Given the description of an element on the screen output the (x, y) to click on. 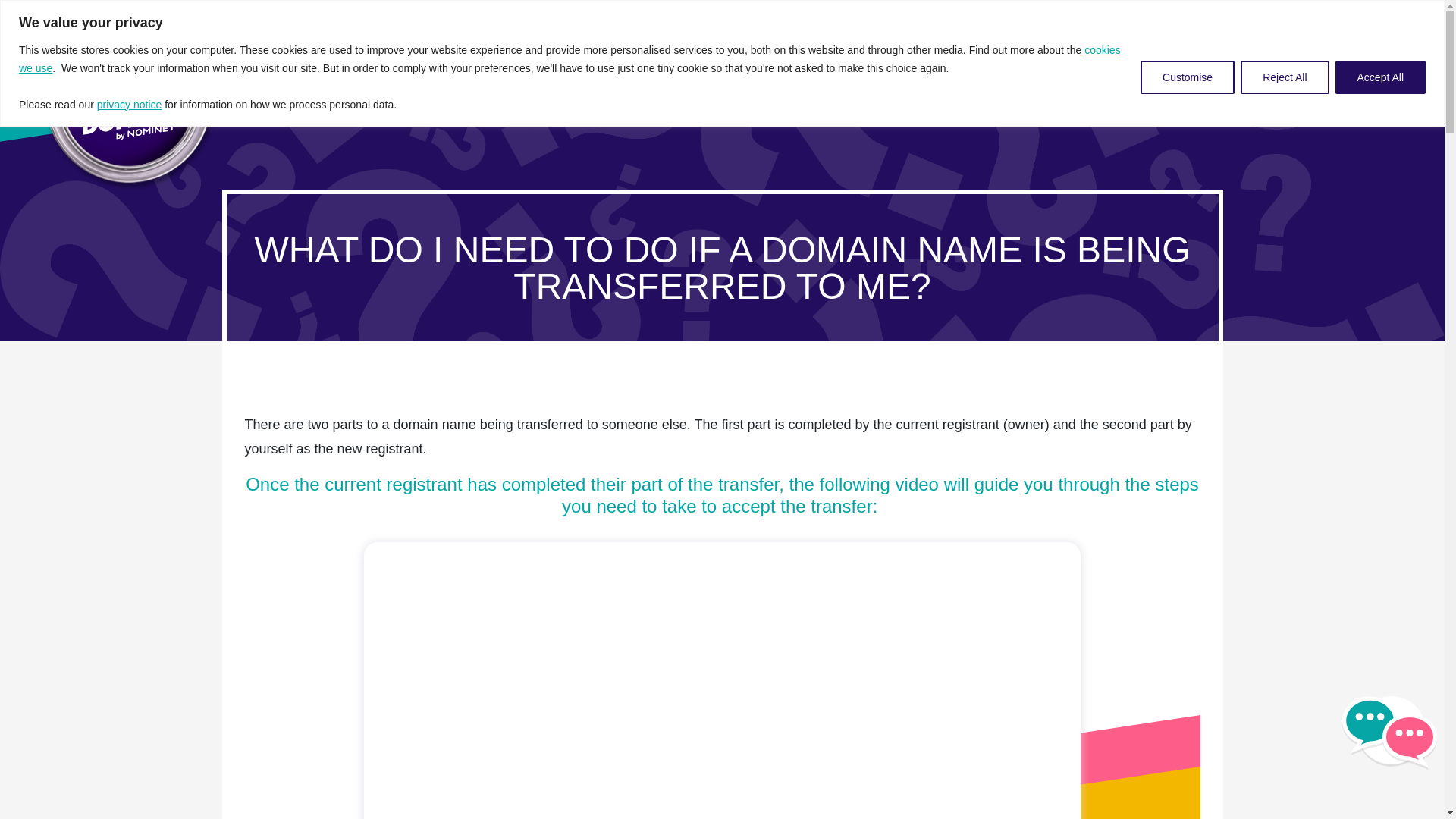
Domain Name Search (1308, 62)
 cookies we use (569, 59)
Reject All (1283, 77)
on (8, 43)
Accept All (1380, 77)
privacy notice (129, 104)
Help Centre (1131, 61)
Domain Leaders (992, 61)
Customise (1187, 77)
